Given the description of an element on the screen output the (x, y) to click on. 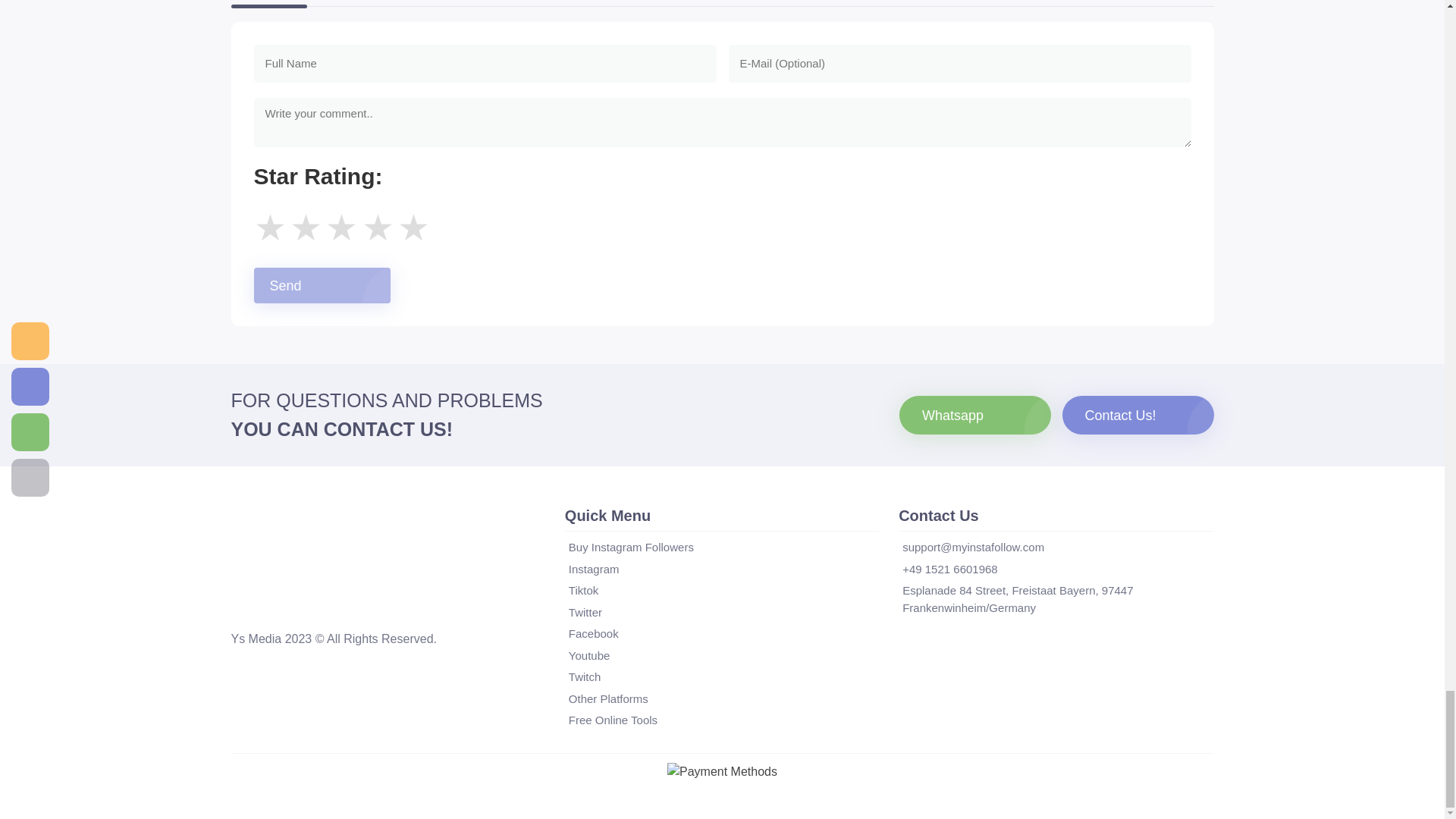
Payment Methods (721, 771)
MyInstaFollow (248, 603)
